Given the description of an element on the screen output the (x, y) to click on. 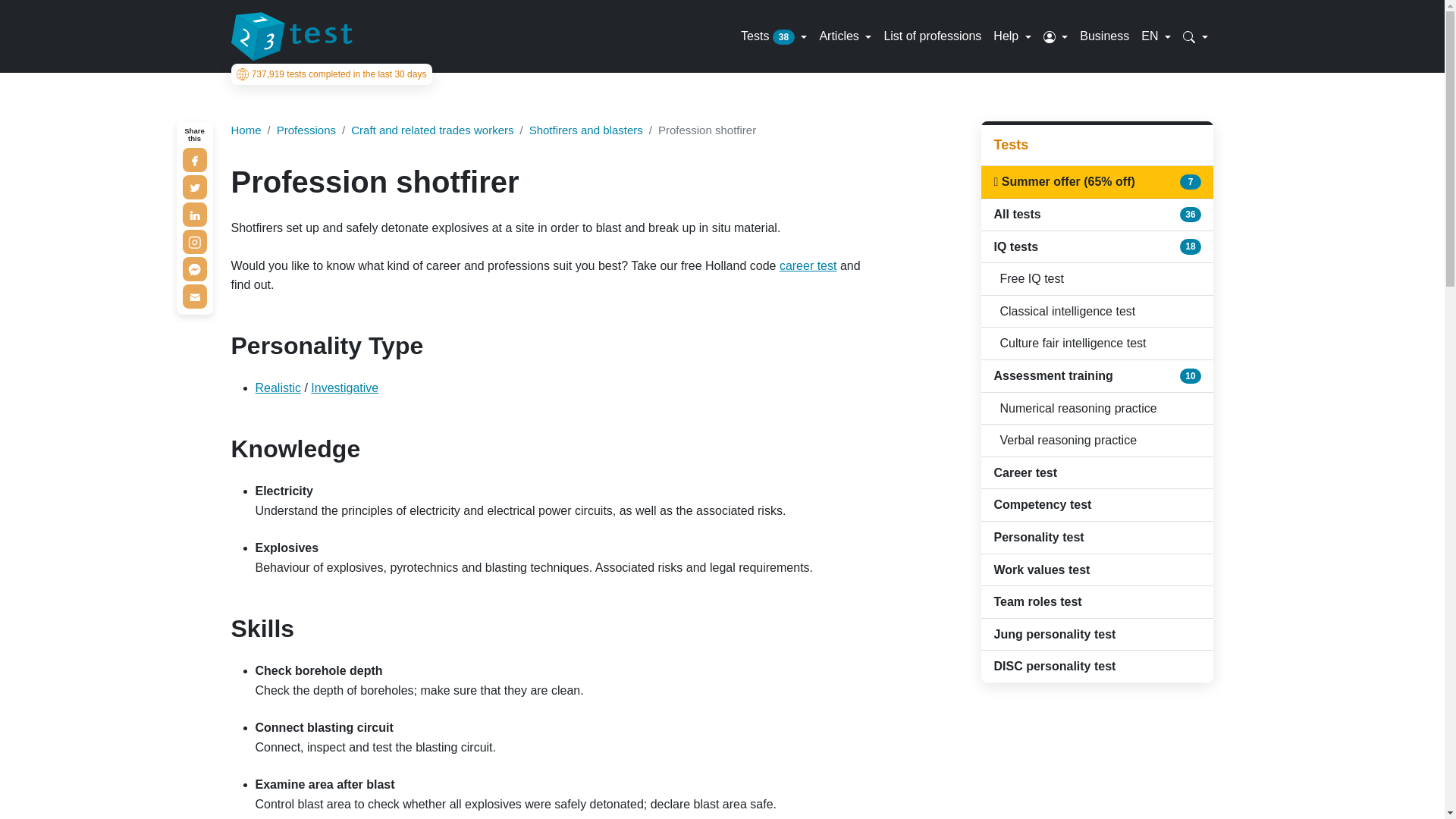
Articles (844, 36)
Instagram (194, 241)
Tests 38 (773, 36)
List of professions (932, 36)
Share on Facebook messenger (194, 269)
Share on Facebook (194, 159)
737,919 tests completed in the last 30 days (331, 74)
Career test (807, 265)
Share on Twitter (194, 187)
Help (1011, 36)
